Given the description of an element on the screen output the (x, y) to click on. 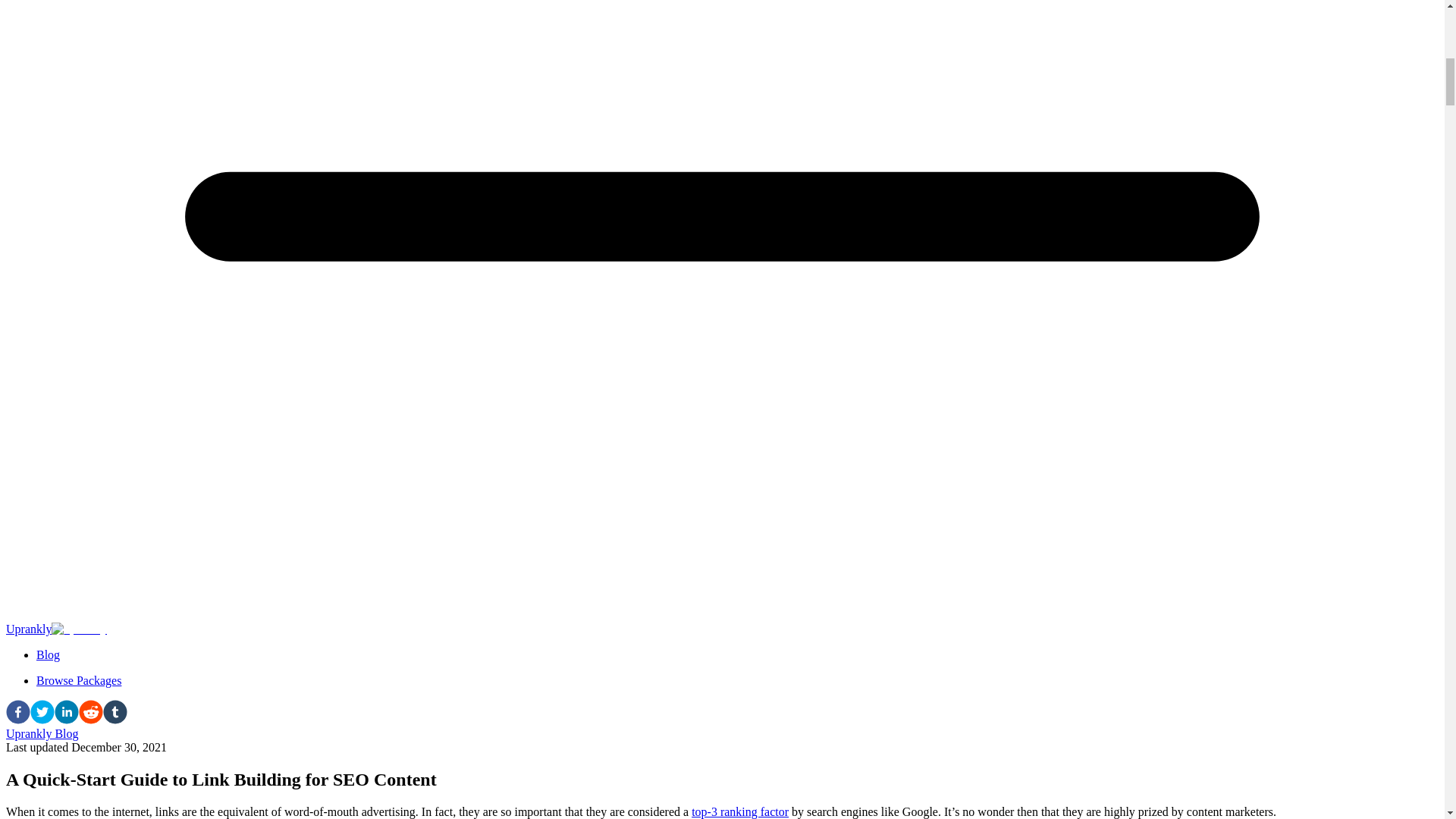
Browse Packages (78, 680)
Blog (47, 654)
top-3 ranking factor (740, 811)
Uprankly Blog (41, 733)
Uprankly (55, 628)
